Given the description of an element on the screen output the (x, y) to click on. 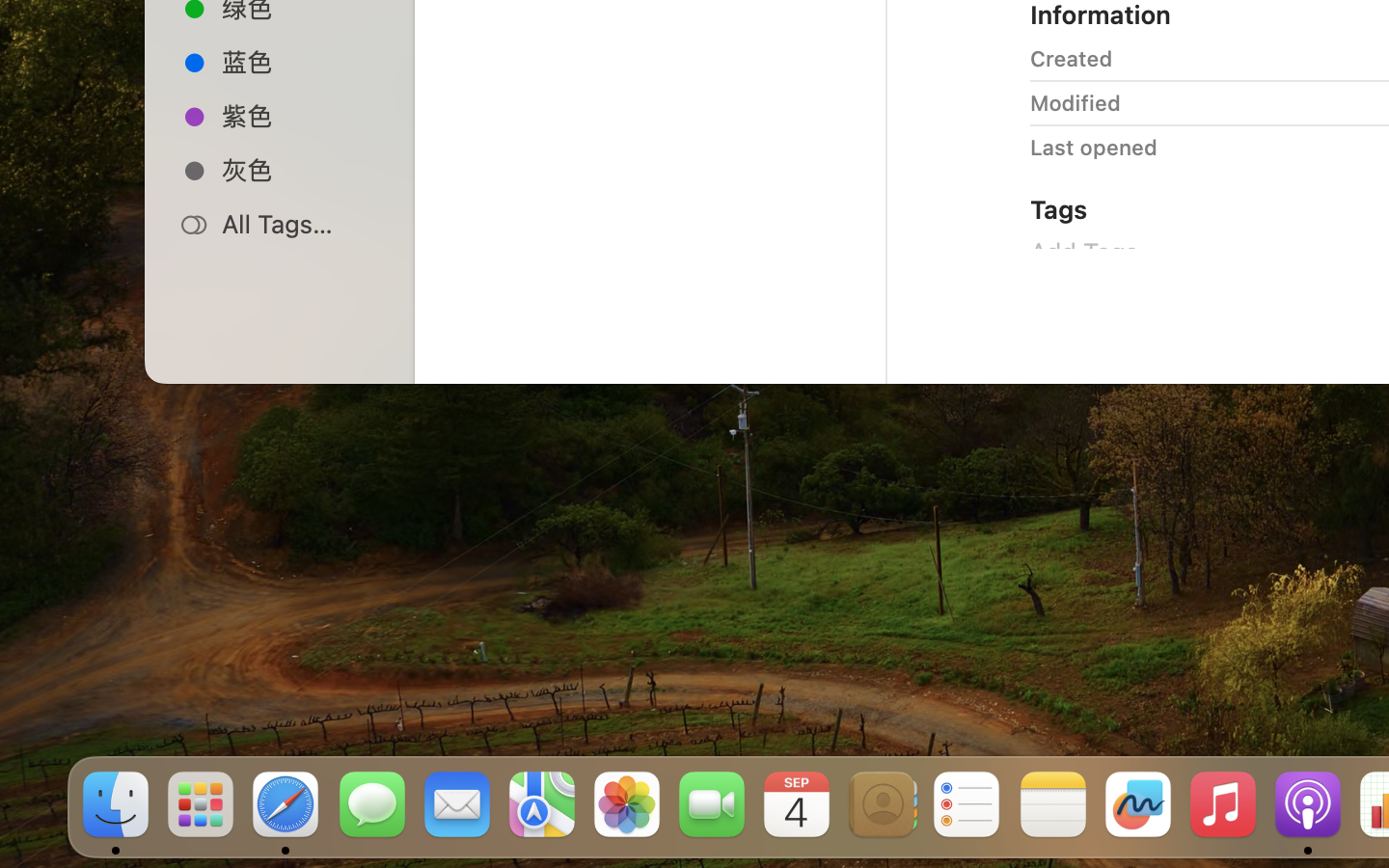
灰色 Element type: AXStaticText (299, 169)
Modified Element type: AXStaticText (1075, 101)
Tags Element type: AXStaticText (1058, 207)
